Given the description of an element on the screen output the (x, y) to click on. 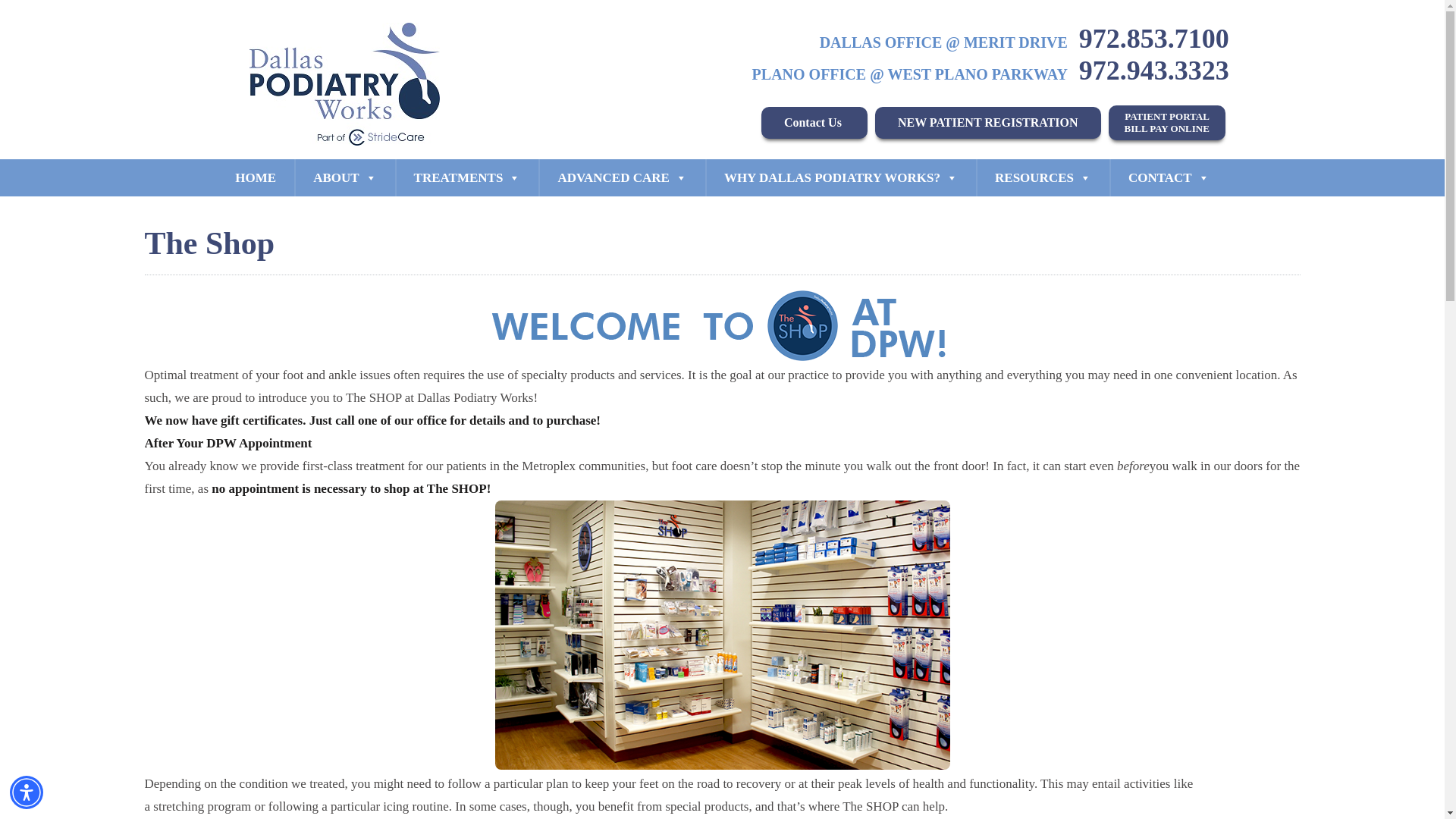
TREATMENTS (467, 177)
Accessibility Menu (26, 792)
ABOUT (344, 177)
ADVANCED CARE (621, 177)
972.853.7100 (1153, 38)
HOME (255, 177)
972.943.3323 (1153, 70)
Contact Us  (814, 122)
NEW PATIENT REGISTRATION (1166, 122)
